Given the description of an element on the screen output the (x, y) to click on. 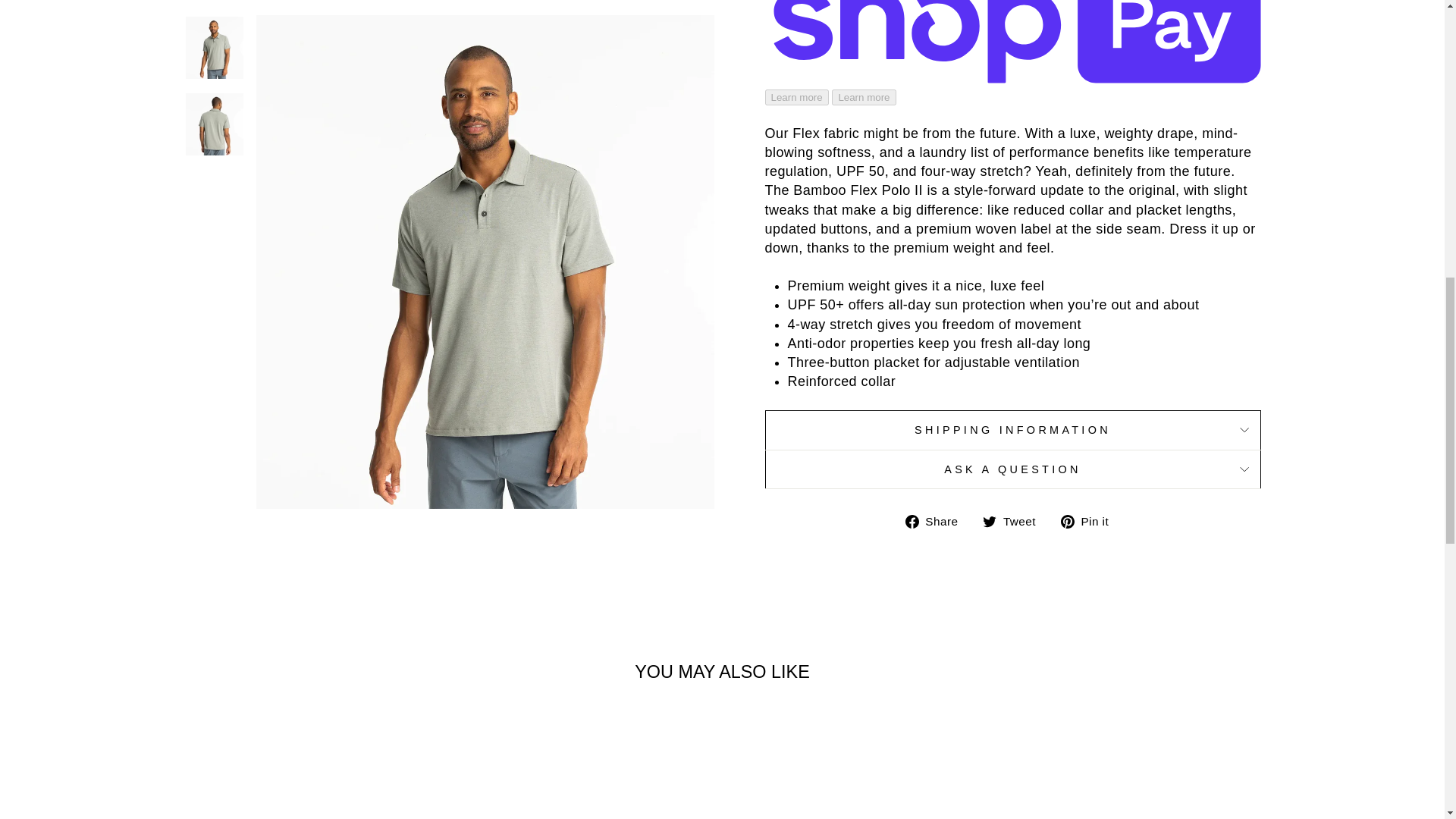
Tweet on Twitter (1014, 520)
Pin on Pinterest (1090, 520)
Share on Facebook (937, 520)
twitter (988, 521)
